Given the description of an element on the screen output the (x, y) to click on. 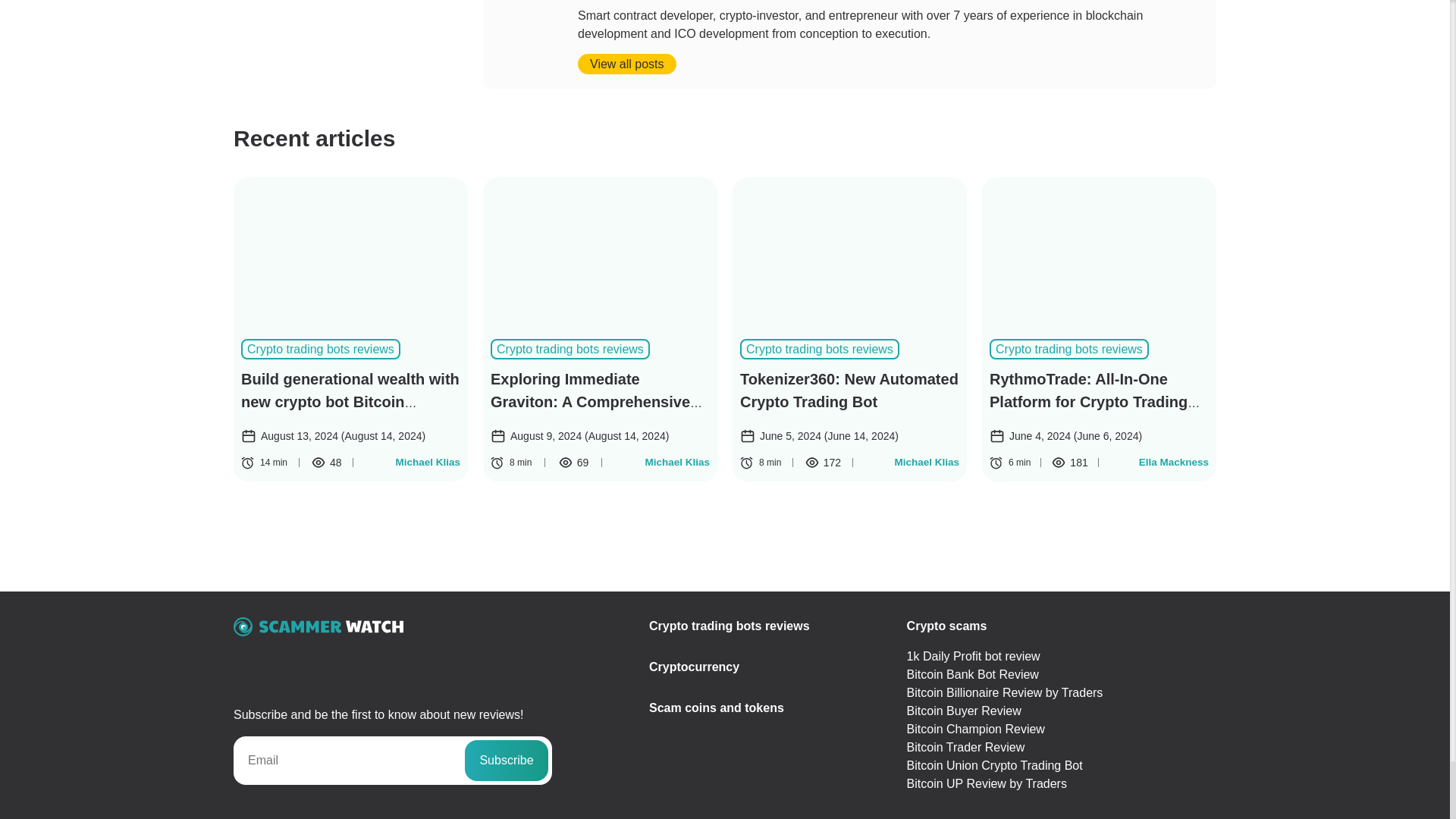
Social Icon (305, 661)
Social Icon (261, 661)
Social Icon (325, 661)
Social Icon (283, 661)
Social Icon (240, 661)
